Given the description of an element on the screen output the (x, y) to click on. 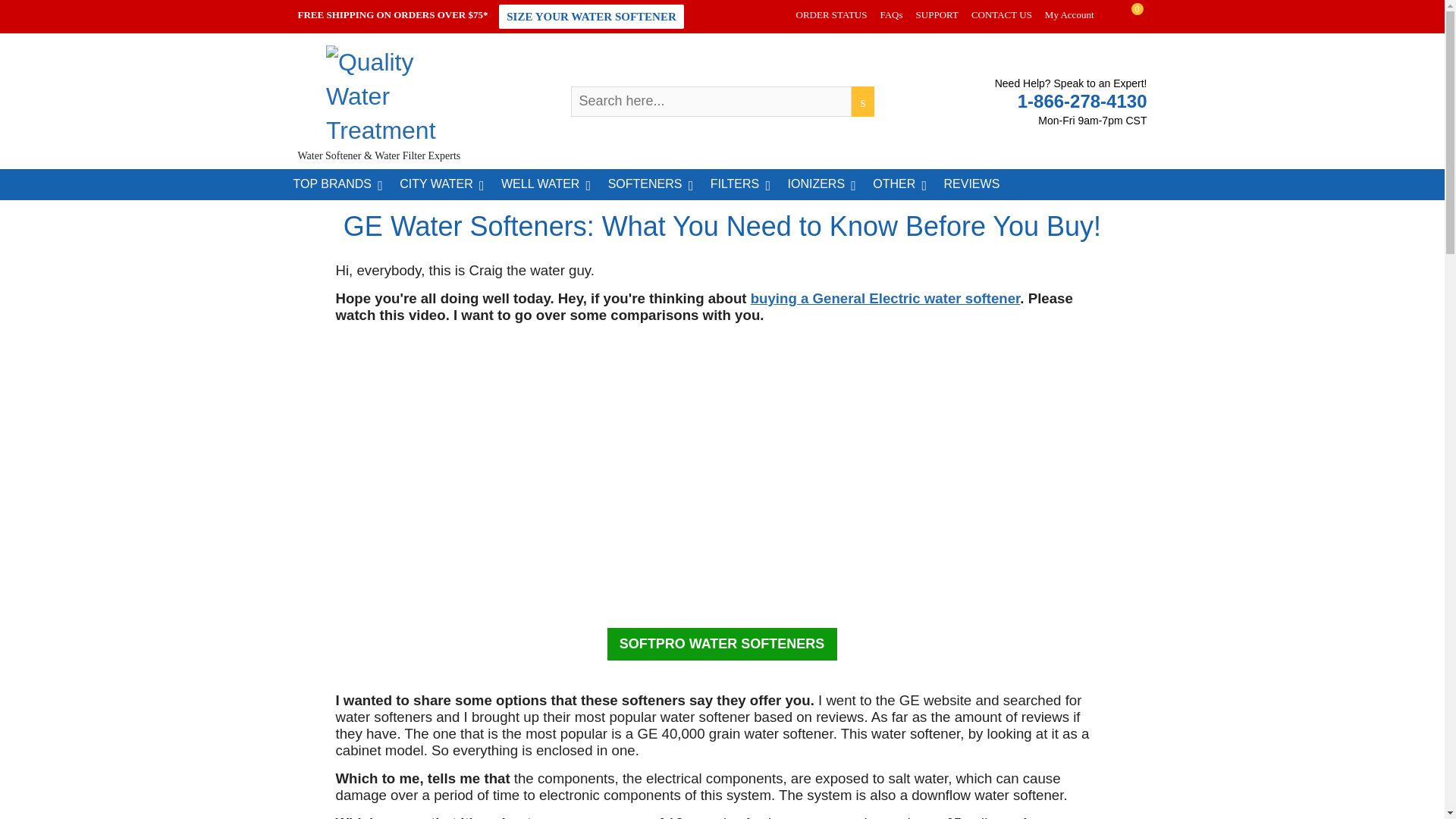
Looking to Buy a GE Water Softener Filtration System? (885, 298)
